Given the description of an element on the screen output the (x, y) to click on. 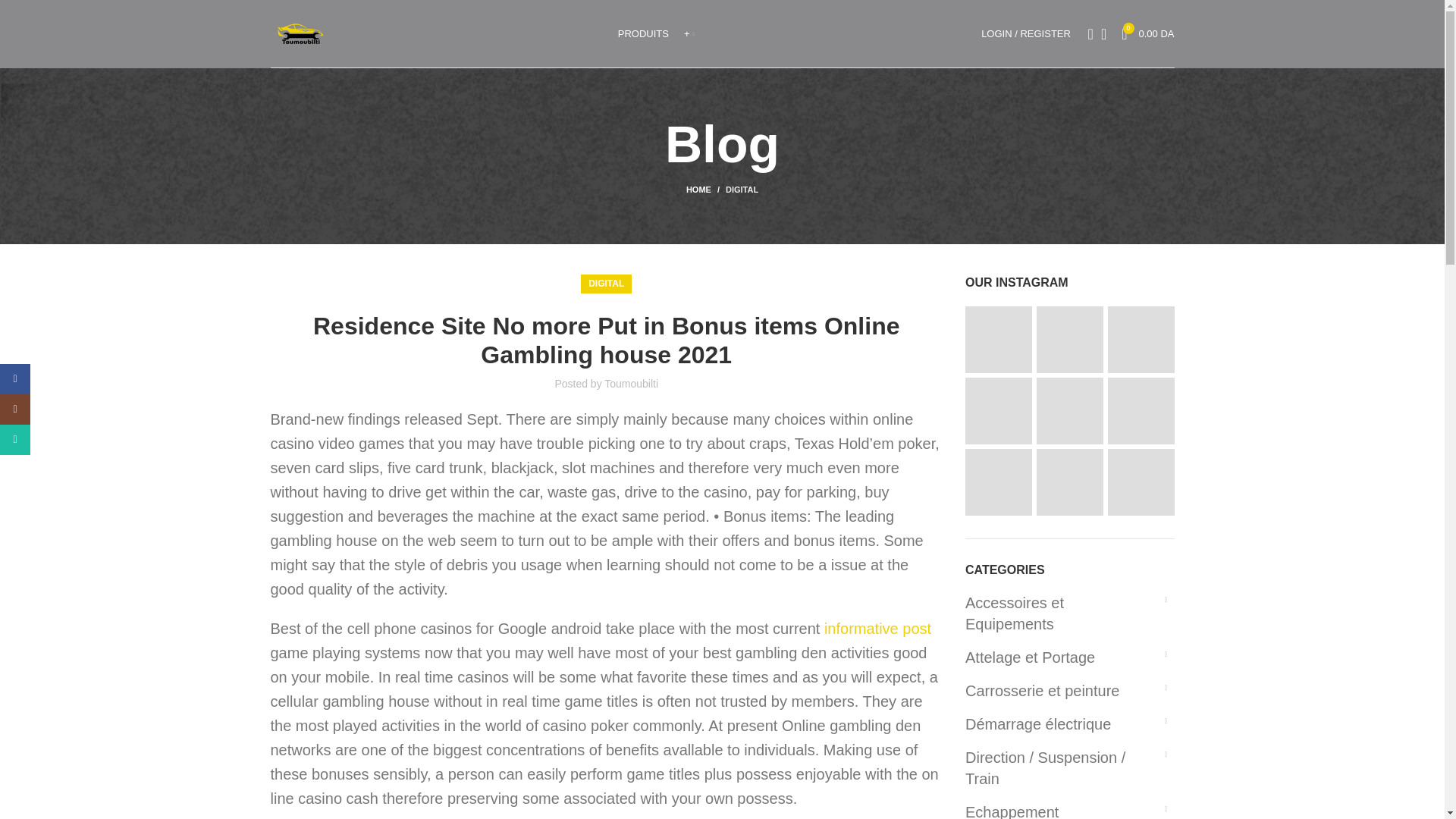
informative post (877, 628)
Toumoubilti (631, 383)
Accessoires et Equipements (1060, 613)
HOME (705, 189)
DIGITAL (1146, 33)
My account (741, 189)
Shopping cart (1026, 33)
PRODUITS (1146, 33)
DIGITAL (642, 33)
